Given the description of an element on the screen output the (x, y) to click on. 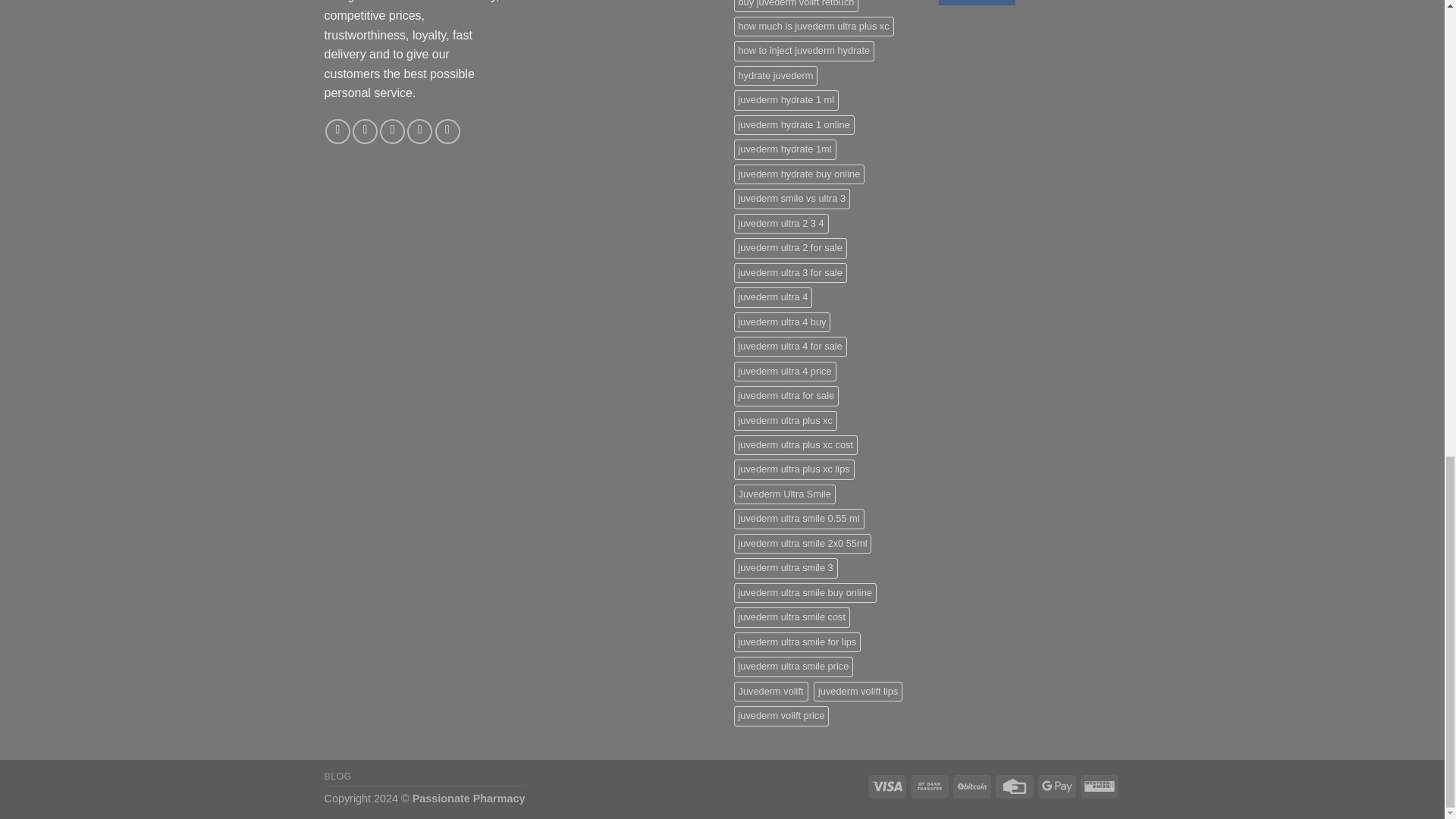
Submit (976, 2)
